Given the description of an element on the screen output the (x, y) to click on. 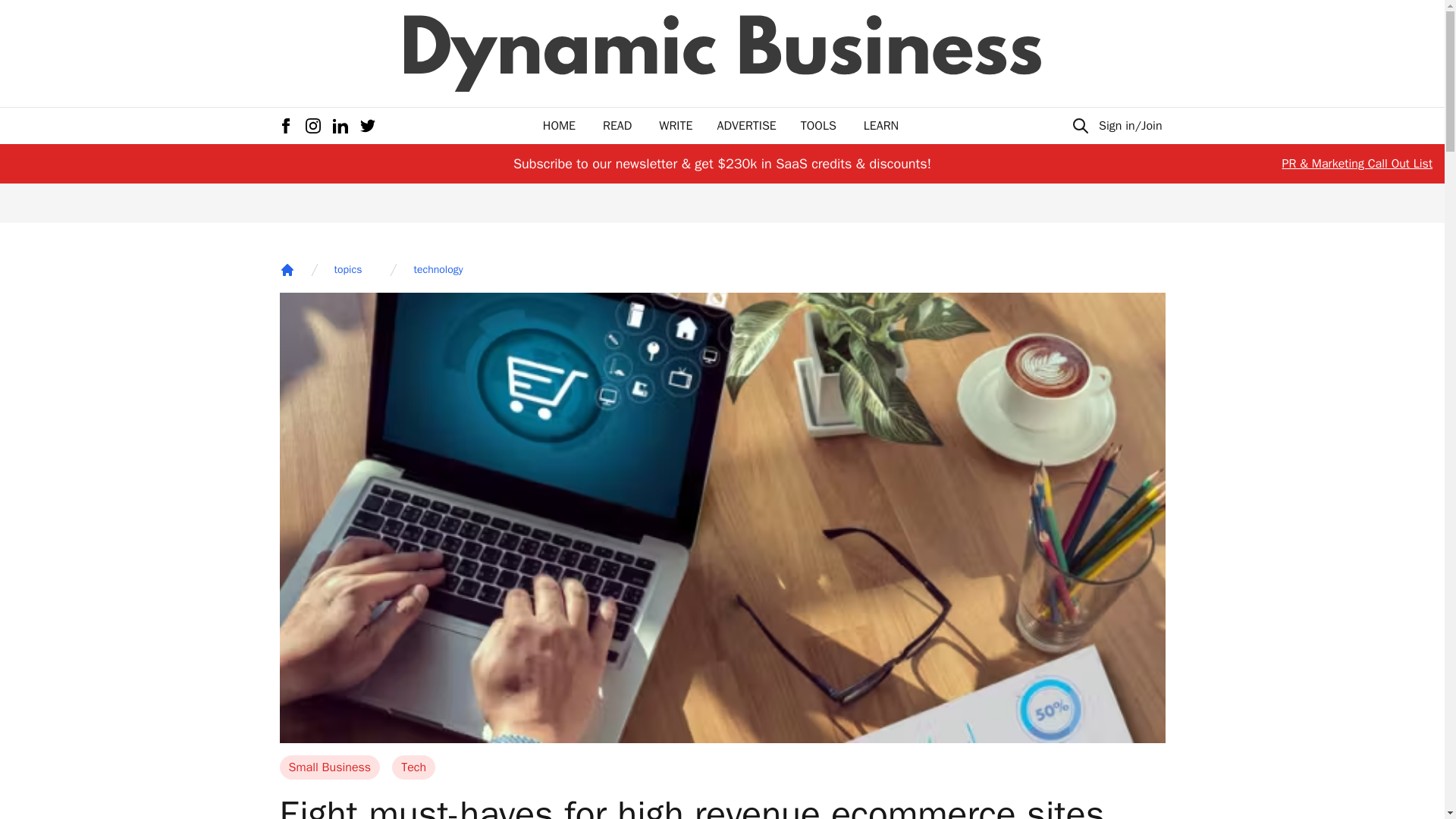
LEARN (880, 126)
Home (286, 269)
READ (616, 126)
HOME (559, 126)
ADVERTISE (746, 126)
WRITE (676, 126)
Small Business (329, 767)
TOOLS (817, 126)
technology (438, 269)
topics (347, 269)
Tech (413, 767)
